Given the description of an element on the screen output the (x, y) to click on. 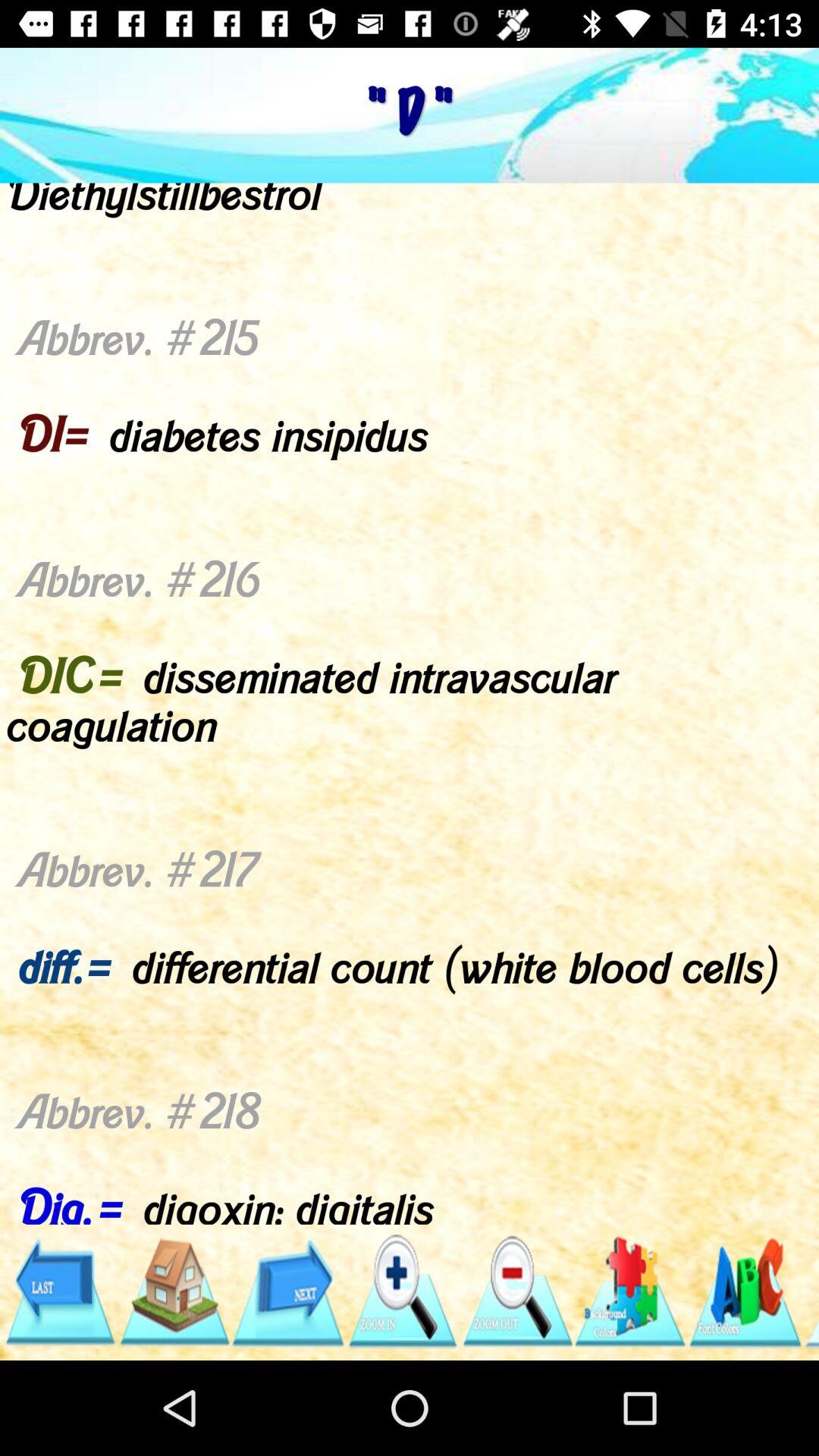
button in arrow shape saying next (287, 1291)
